Given the description of an element on the screen output the (x, y) to click on. 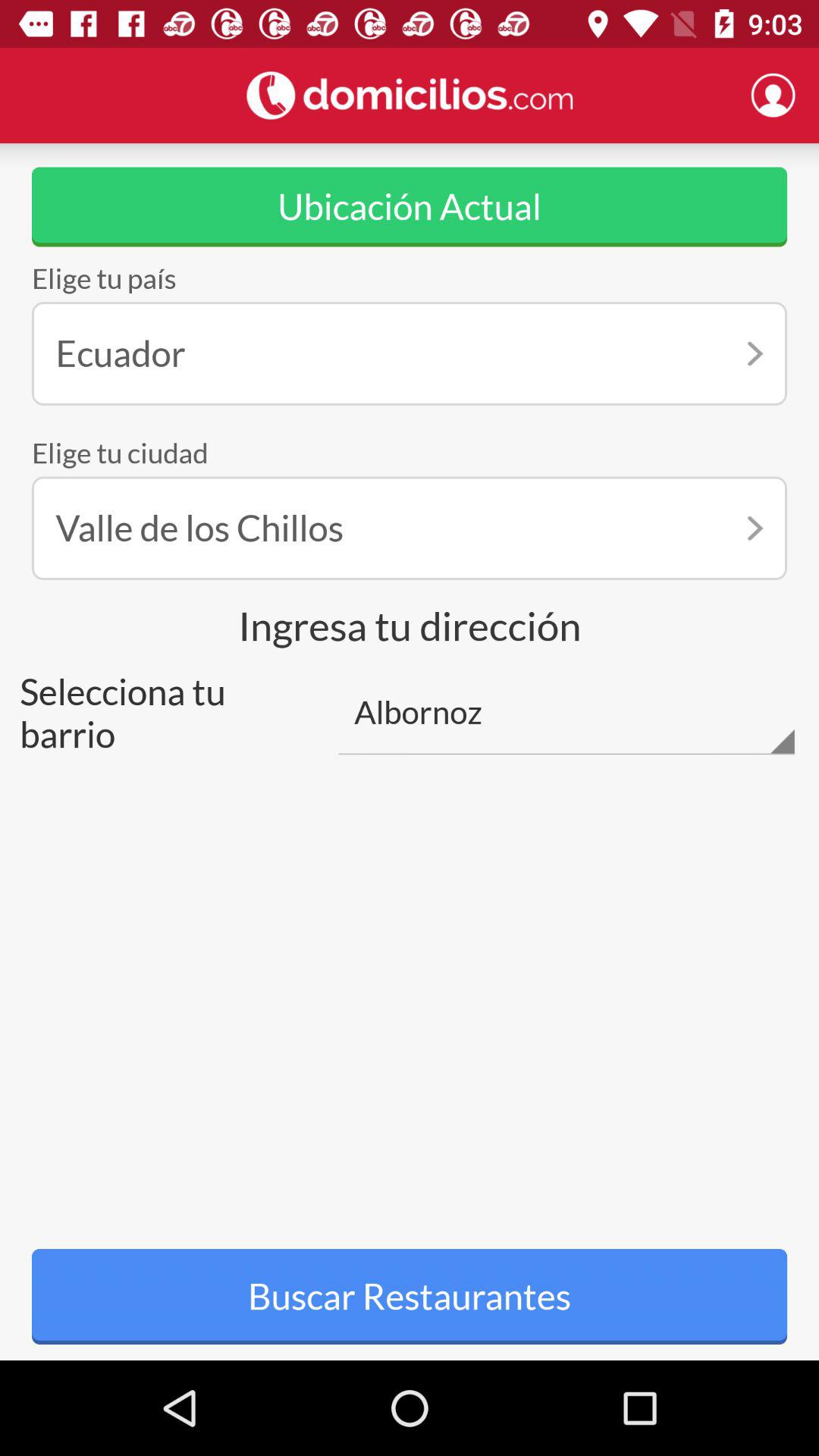
profile page option (773, 95)
